Given the description of an element on the screen output the (x, y) to click on. 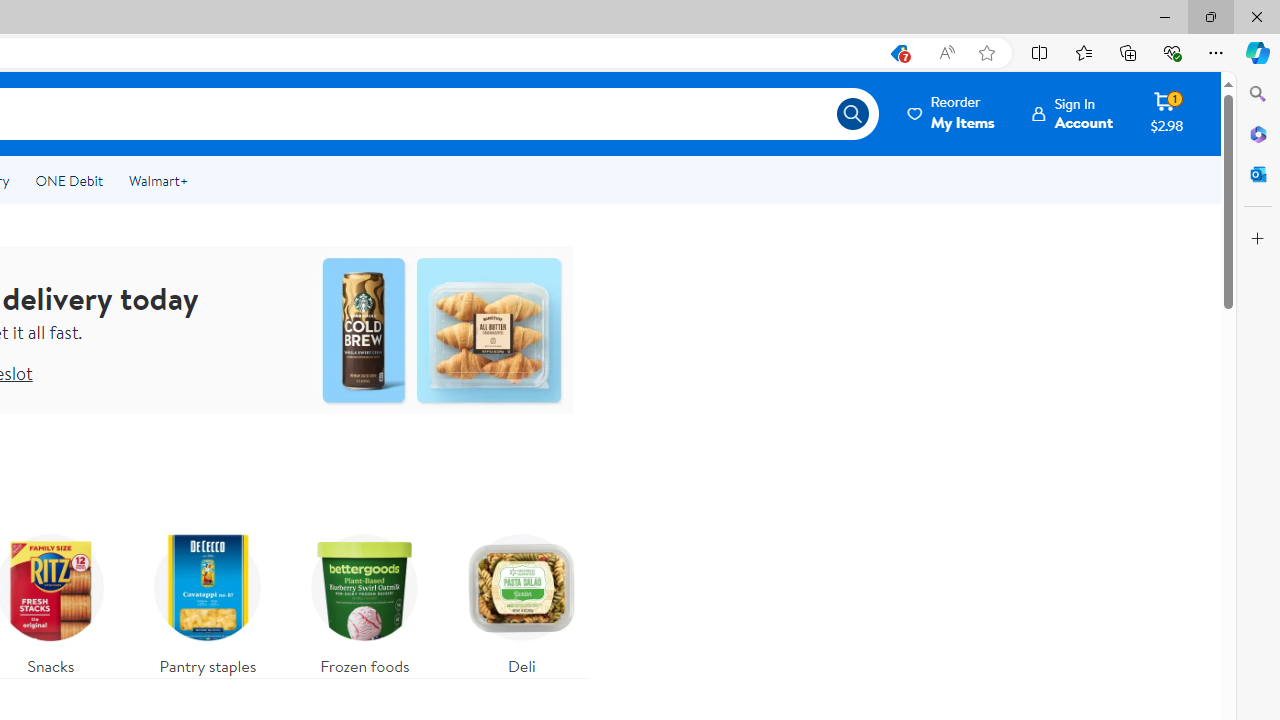
Deli (521, 599)
Pantry staples (207, 599)
Walmart+ (158, 180)
ONE Debit (68, 180)
ONE Debit (68, 180)
Search icon (852, 113)
